Given the description of an element on the screen output the (x, y) to click on. 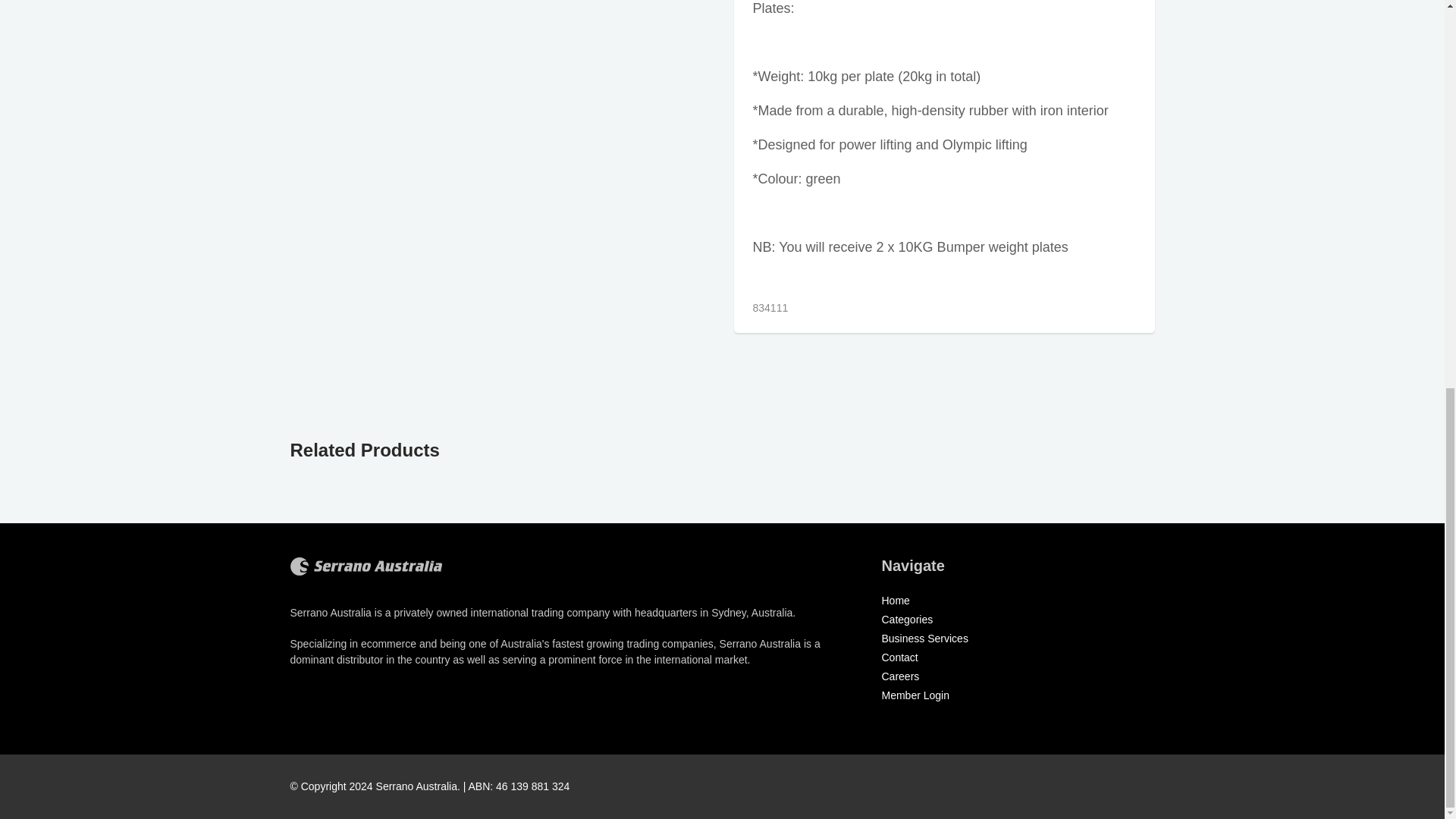
Categories (906, 619)
Member Login (914, 695)
Careers (899, 676)
Business Services (924, 638)
Home (894, 600)
Contact (898, 657)
